Given the description of an element on the screen output the (x, y) to click on. 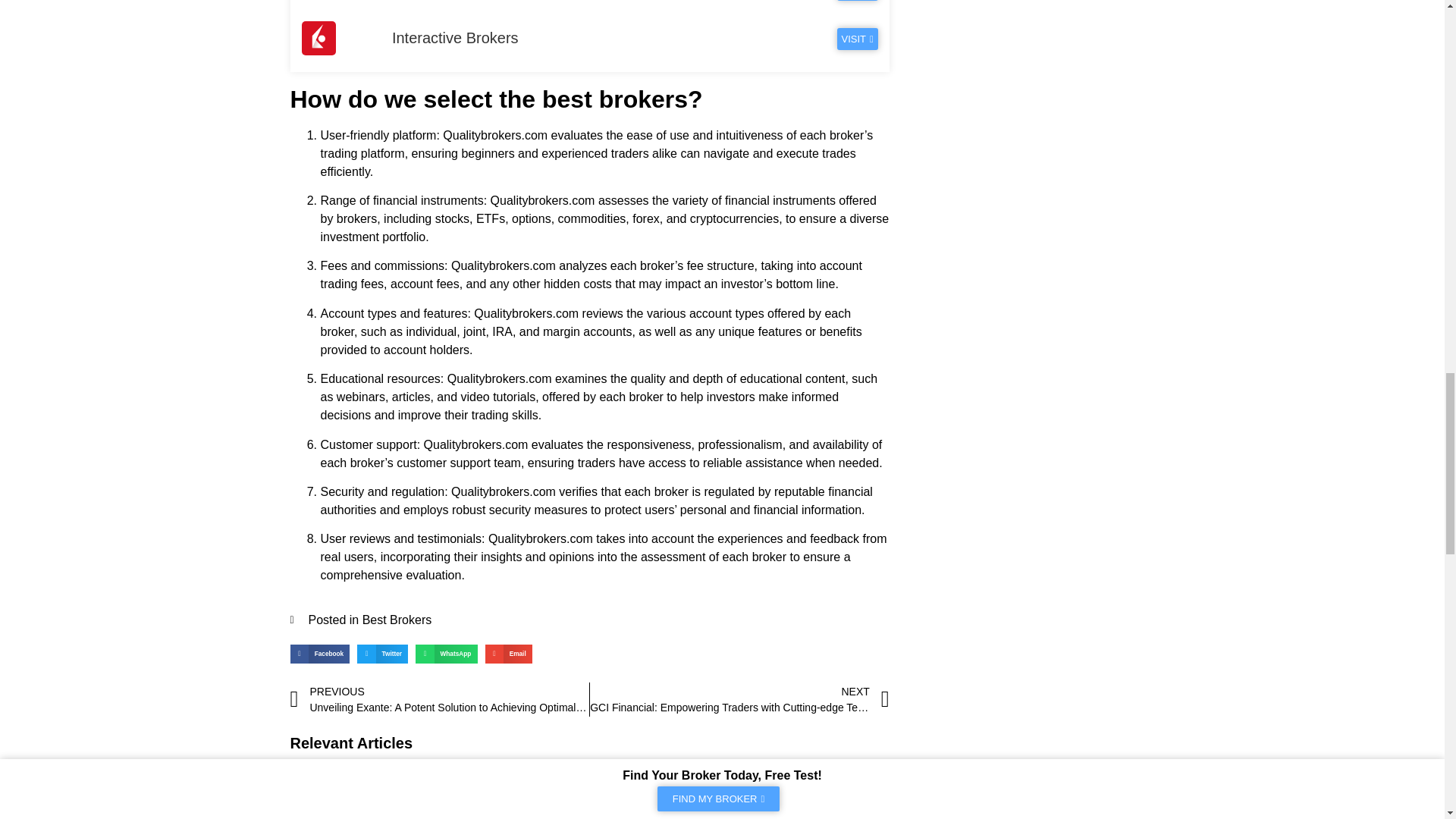
VISIT (857, 0)
Conotoxia: Revolutionizing Global Currency Exchange (505, 794)
VISIT (857, 38)
CFH Clearing: Setting New Standards in Financial Trading (664, 794)
Best Brokers (397, 619)
